Given the description of an element on the screen output the (x, y) to click on. 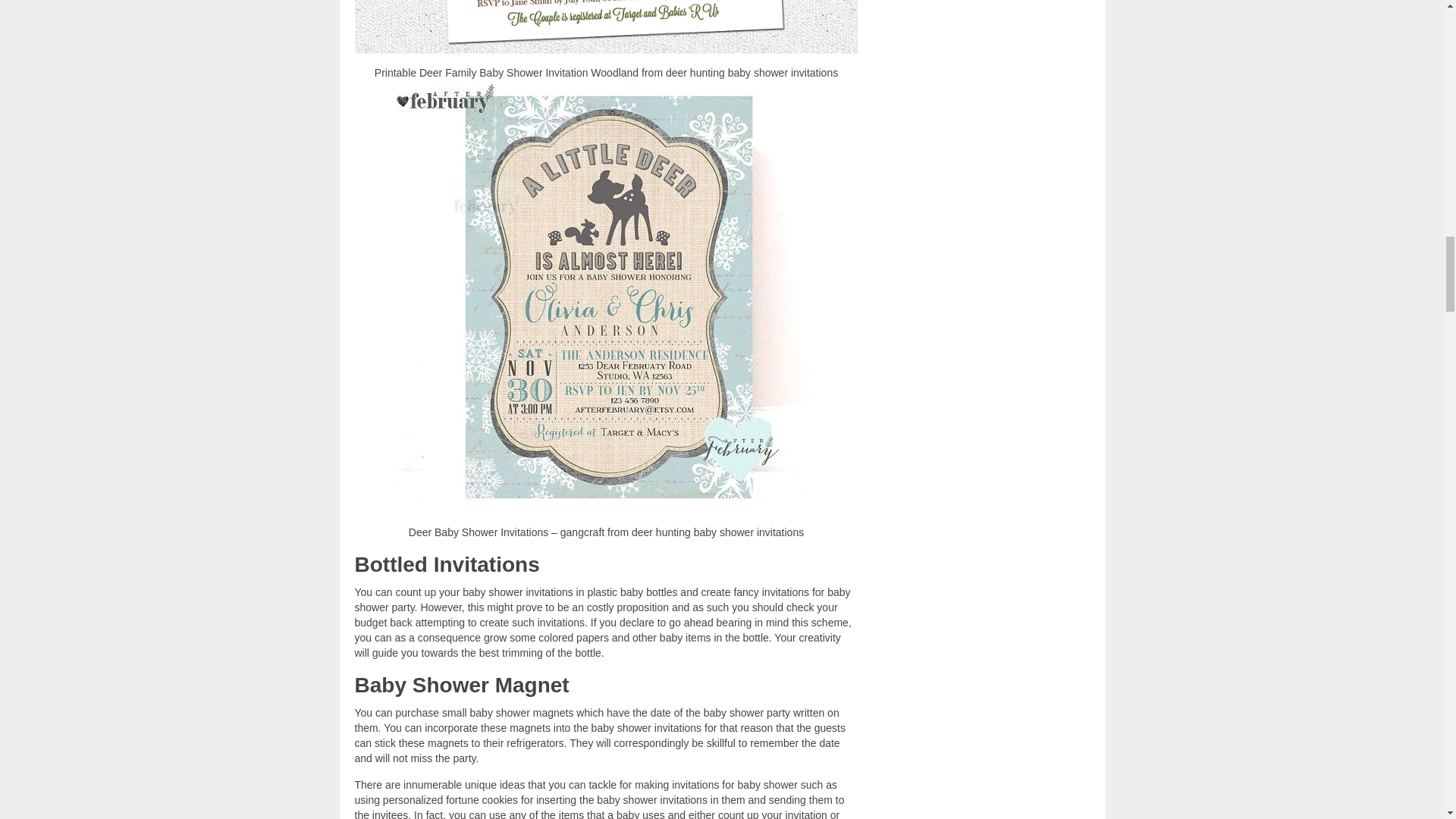
Printable Deer Family Baby Shower Invitation Woodland (607, 27)
